Given the description of an element on the screen output the (x, y) to click on. 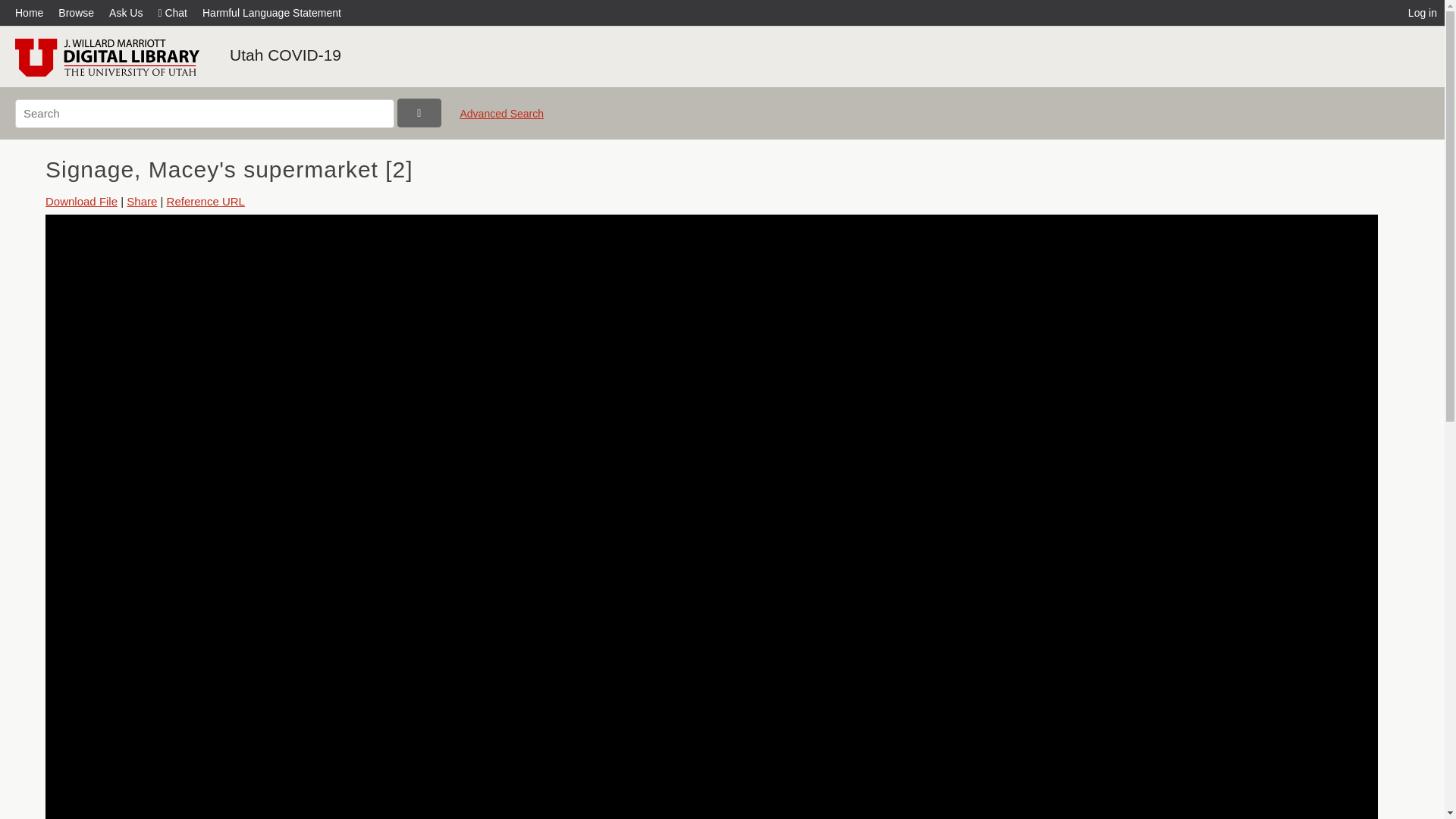
Share (141, 201)
Share (141, 201)
Download - 912.98K (81, 201)
Home (32, 12)
Harmful Language Statement (272, 12)
Browse (75, 12)
Utah COVID-19 (285, 54)
Reference URL (205, 201)
Ask Us (125, 12)
Reference URL (205, 201)
Advanced Search (501, 119)
Chat (172, 12)
Download File (81, 201)
